Given the description of an element on the screen output the (x, y) to click on. 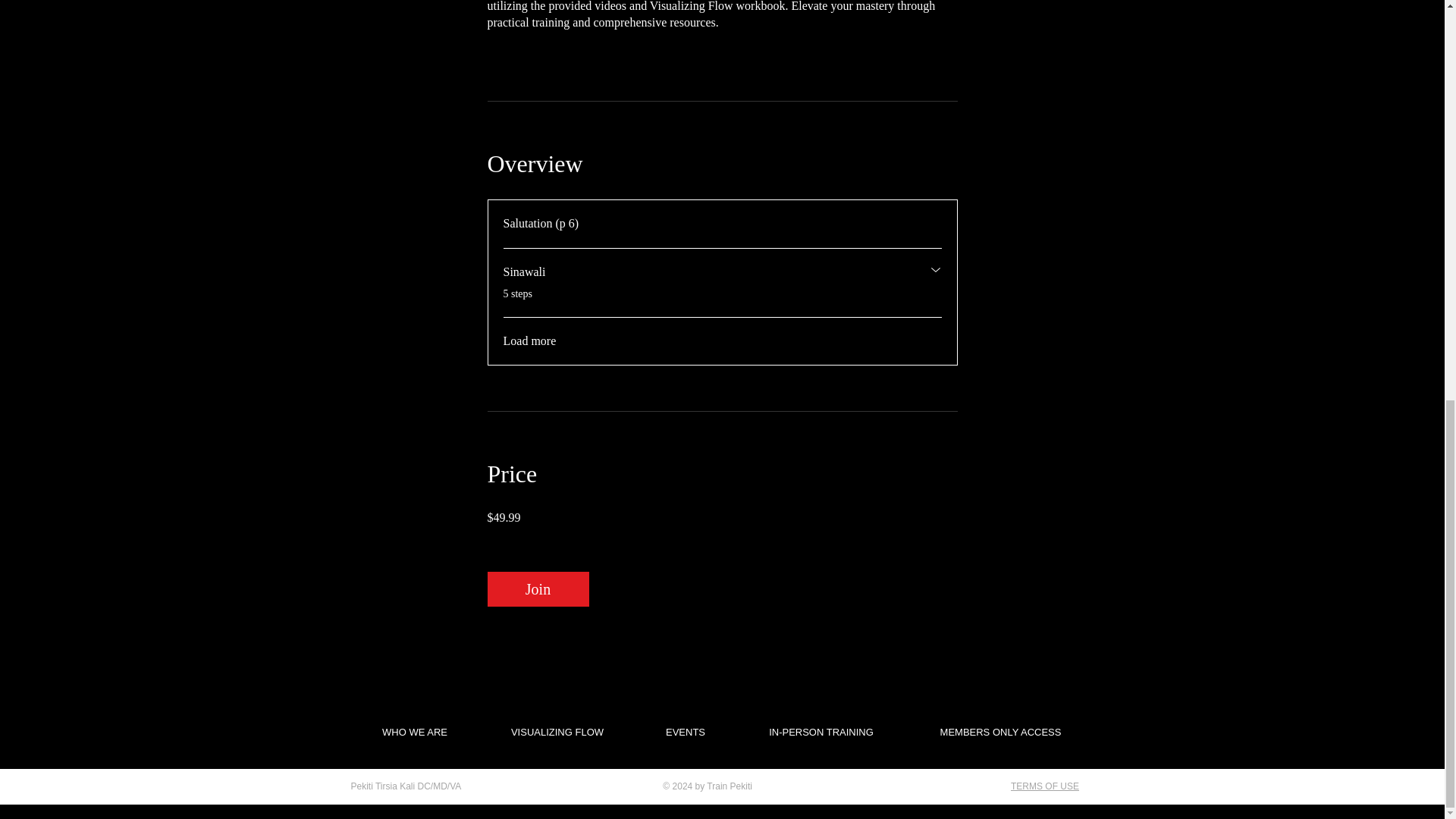
Load more (529, 340)
TERMS OF USE (1044, 4)
Join (537, 588)
